Given the description of an element on the screen output the (x, y) to click on. 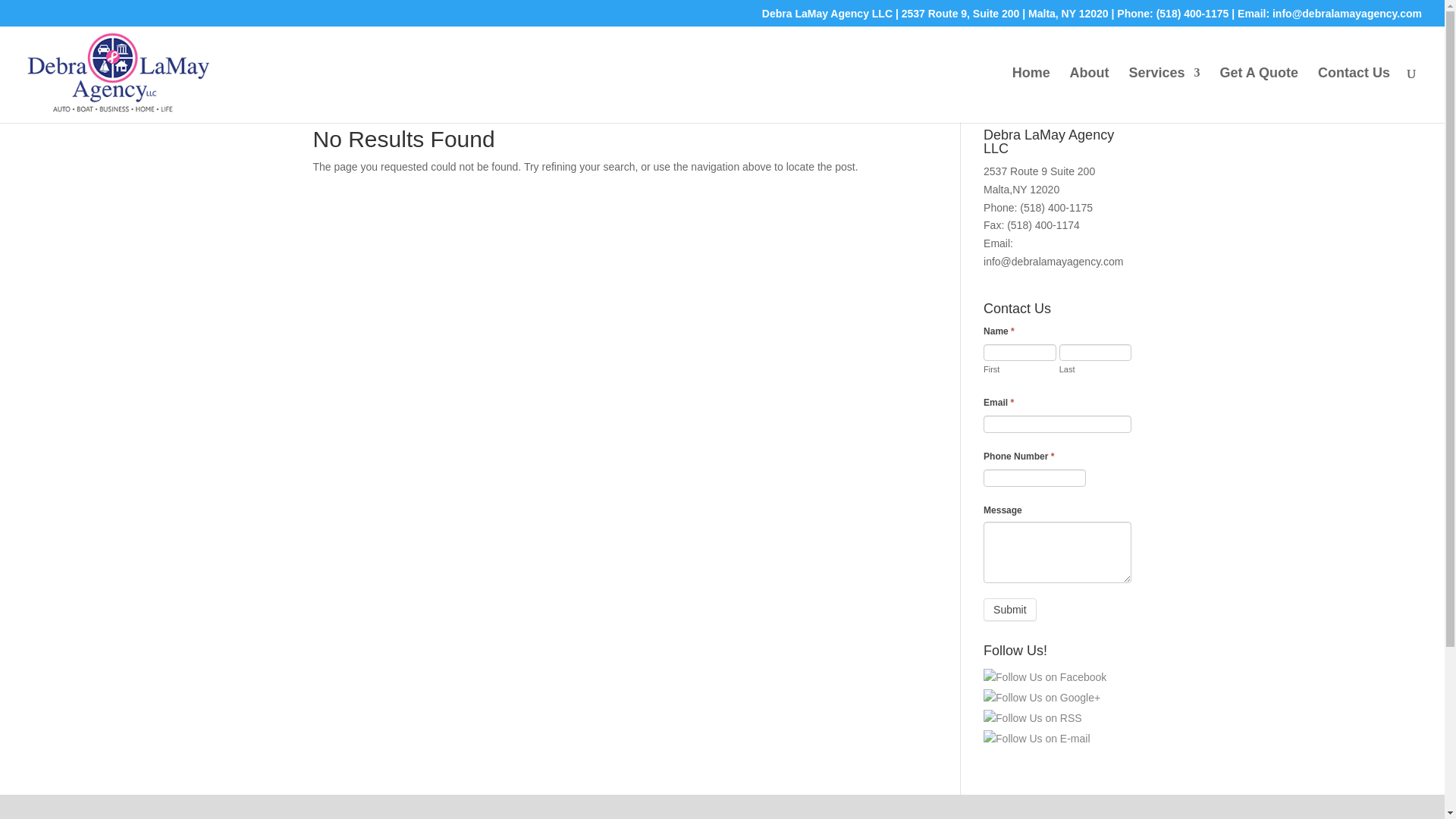
Follow Us on E-mail (1036, 739)
Submit (1010, 609)
Follow Us on RSS (1032, 719)
About (1089, 94)
Contact Us (1353, 94)
Follow Us on Facebook (1045, 678)
Get A Quote (1259, 94)
Services (1163, 94)
Submit (1010, 609)
Home (1030, 94)
